Given the description of an element on the screen output the (x, y) to click on. 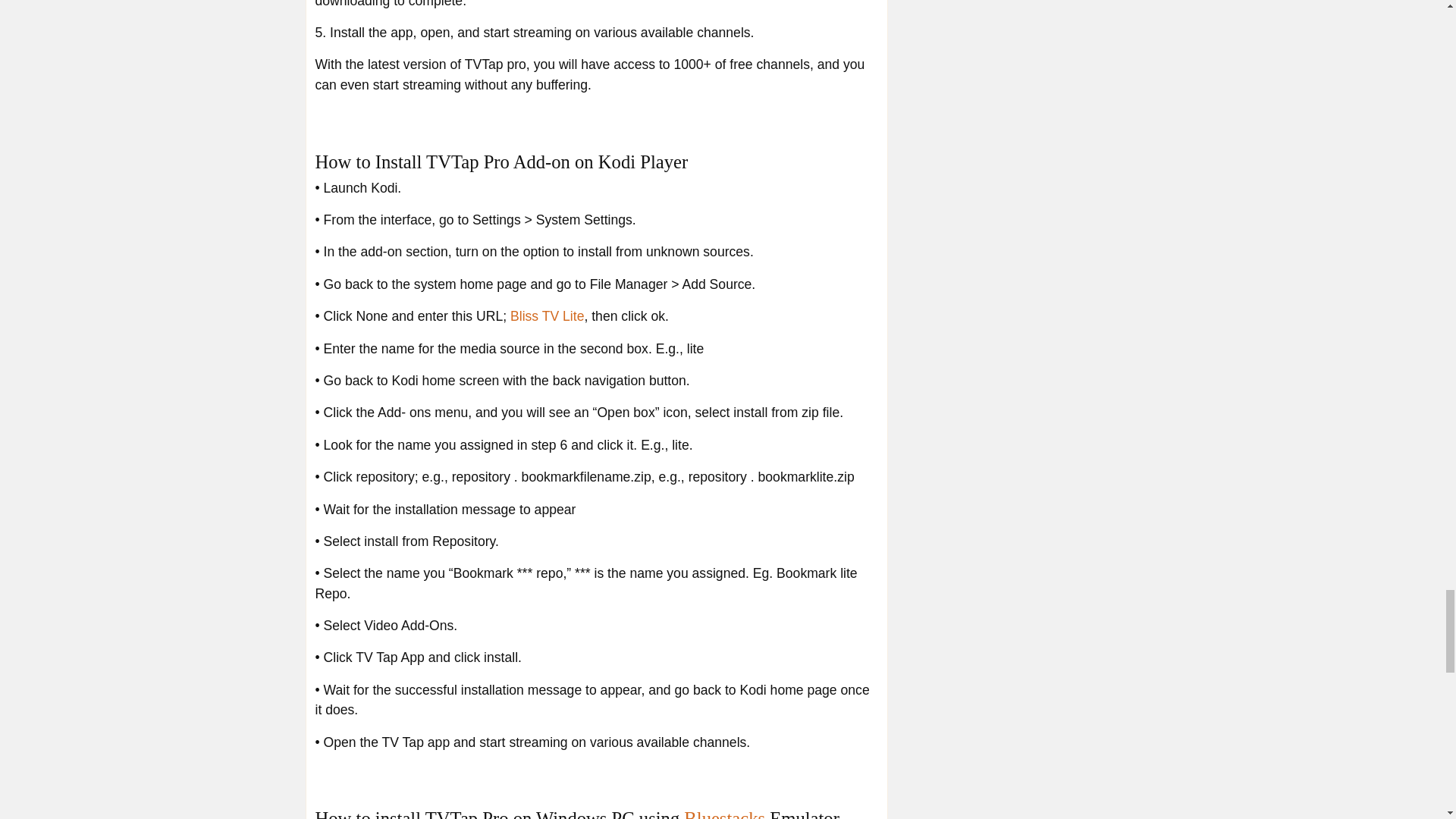
Bliss TV Lite (547, 315)
Bluestacks (724, 813)
